Given the description of an element on the screen output the (x, y) to click on. 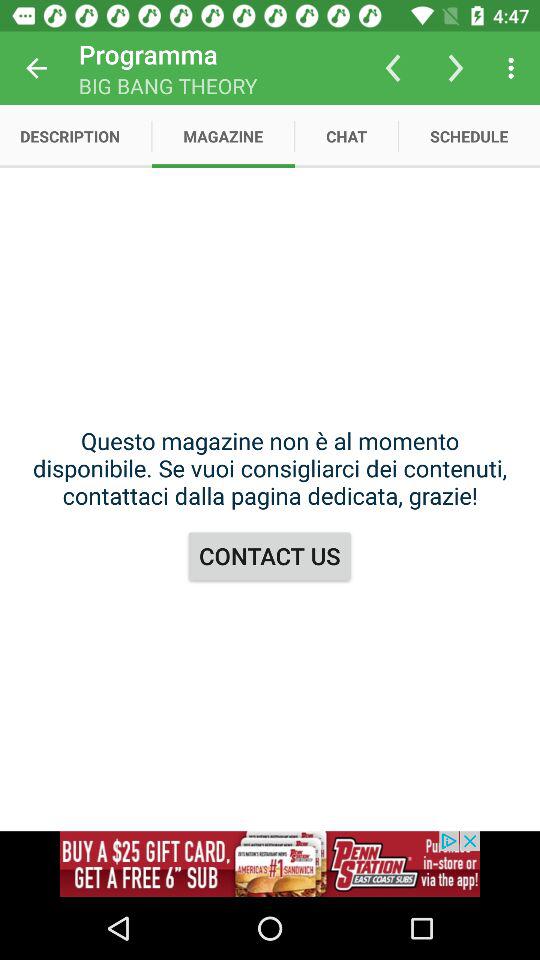
advertisement adding button (270, 864)
